Given the description of an element on the screen output the (x, y) to click on. 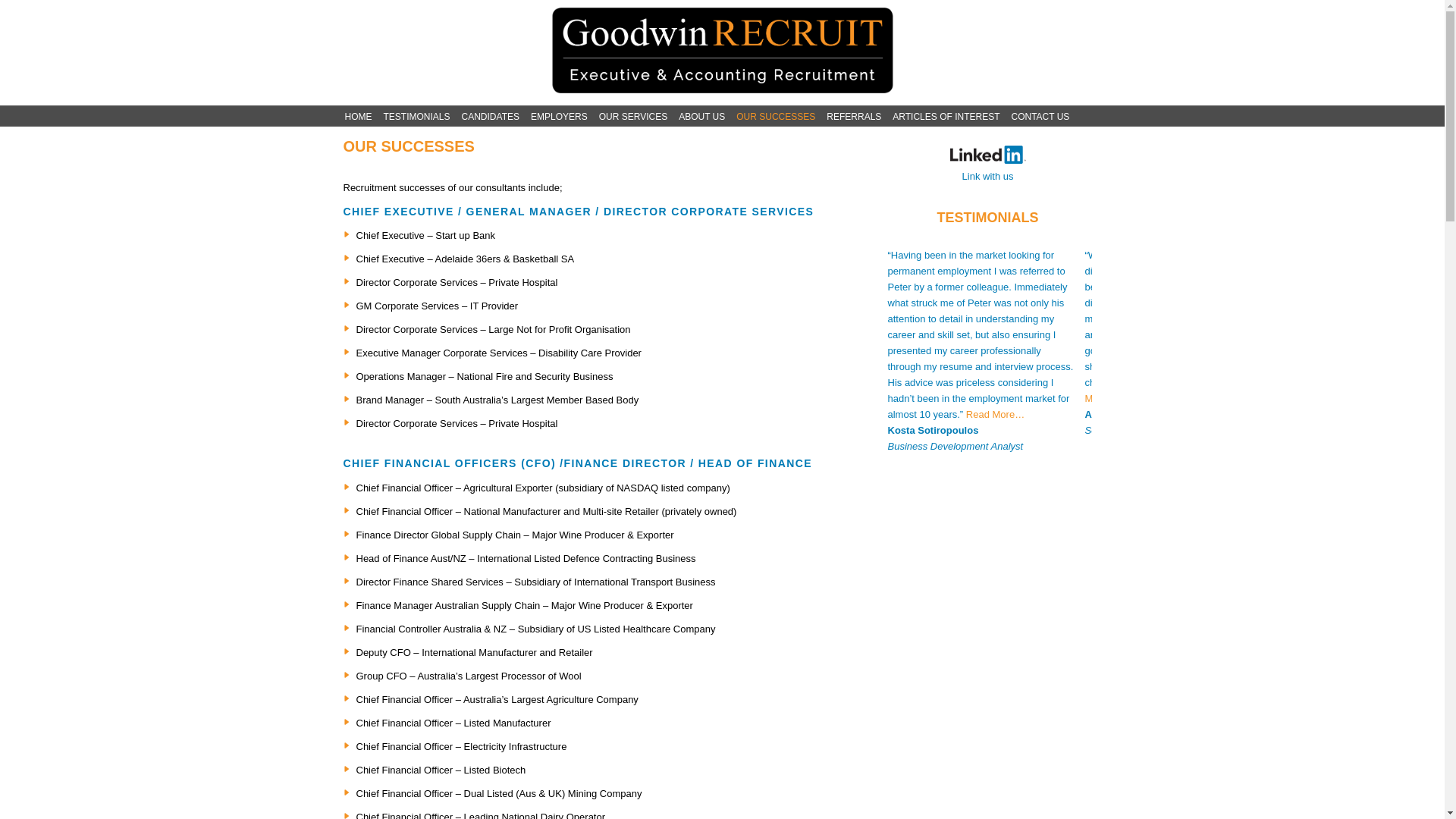
ARTICLES OF INTEREST Element type: text (946, 117)
REFERRALS Element type: text (853, 117)
CONTACT US Element type: text (1039, 117)
ABOUT US Element type: text (701, 117)
Skip to secondary content Element type: text (396, 113)
OUR SUCCESSES Element type: text (775, 117)
TESTIMONIALS Element type: text (416, 117)
OUR SERVICES Element type: text (632, 117)
CANDIDATES Element type: text (490, 117)
Link with us Element type: text (987, 168)
EMPLOYERS Element type: text (559, 117)
Skip to primary content Element type: text (390, 113)
HOME Element type: text (357, 117)
